Given the description of an element on the screen output the (x, y) to click on. 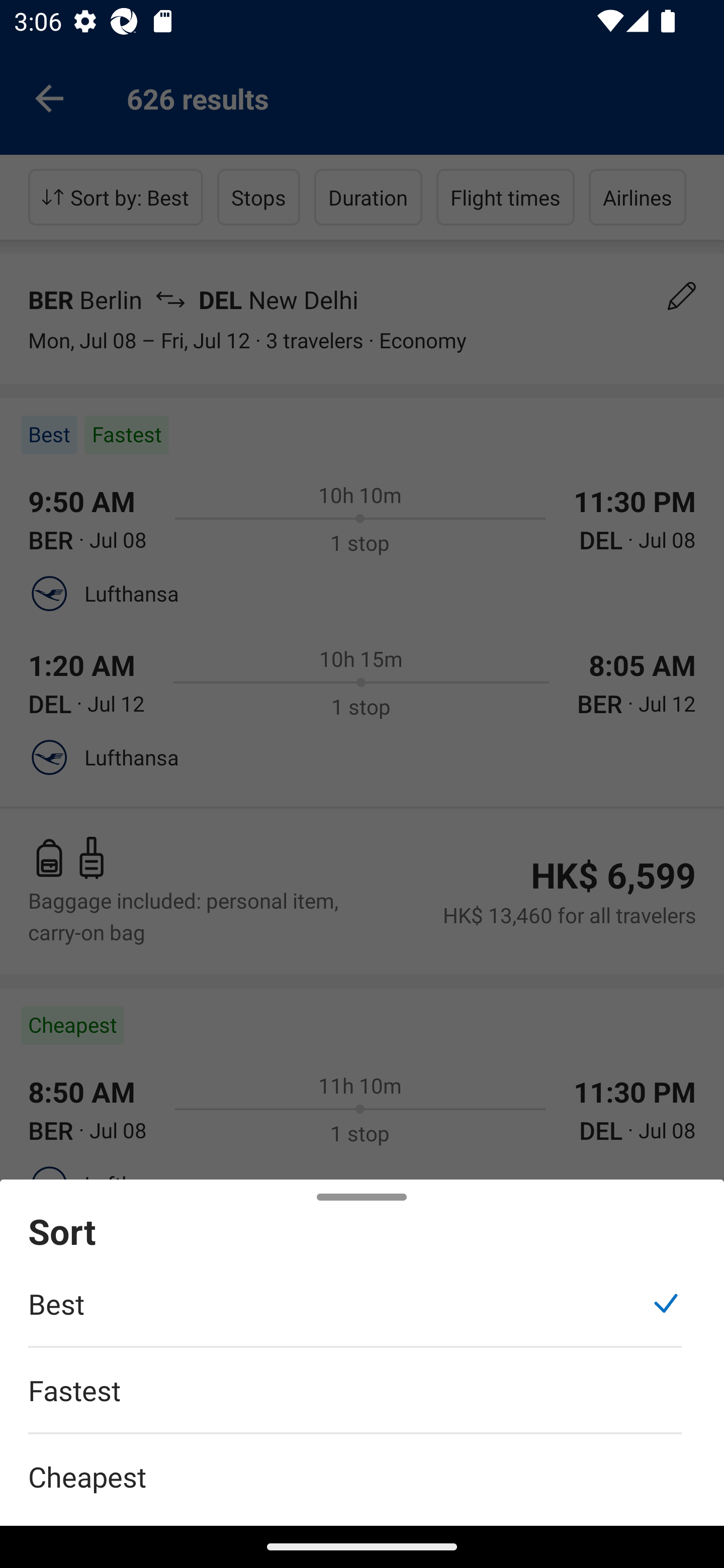
Best (355, 1313)
Fastest (355, 1399)
Cheapest (362, 1465)
